Given the description of an element on the screen output the (x, y) to click on. 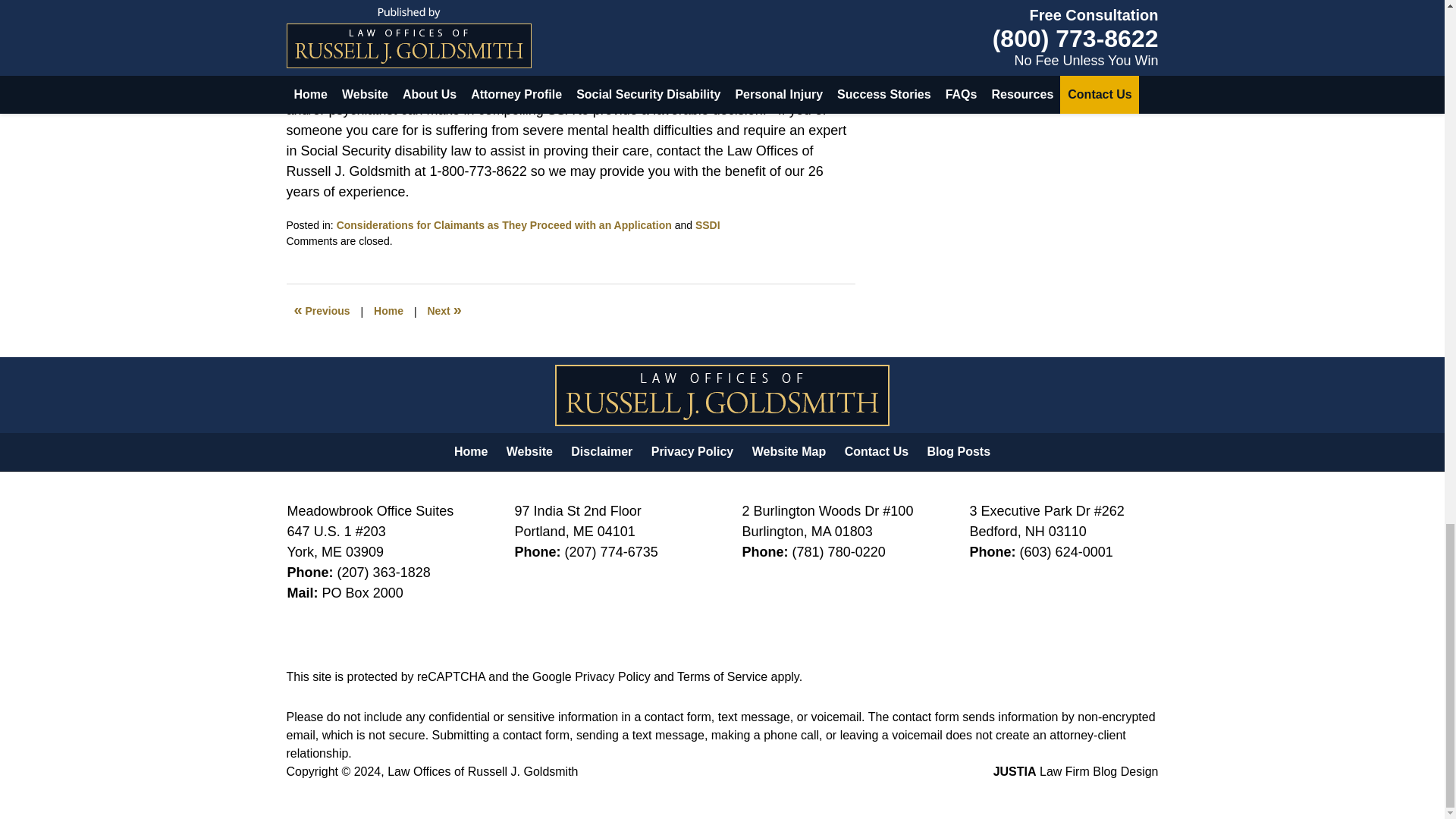
Home (388, 311)
View all posts in SSDI (707, 224)
SSDI (707, 224)
